Given the description of an element on the screen output the (x, y) to click on. 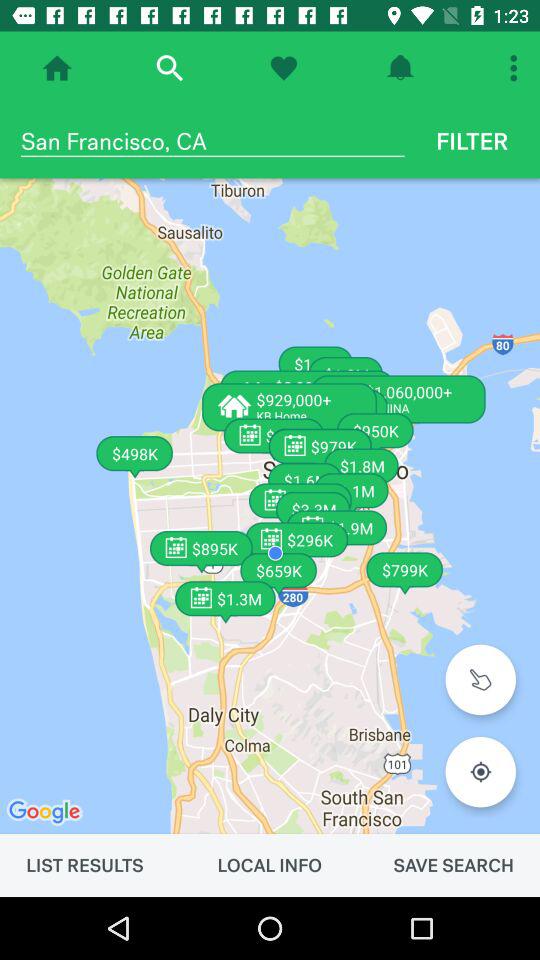
swipe until list results item (84, 865)
